Given the description of an element on the screen output the (x, y) to click on. 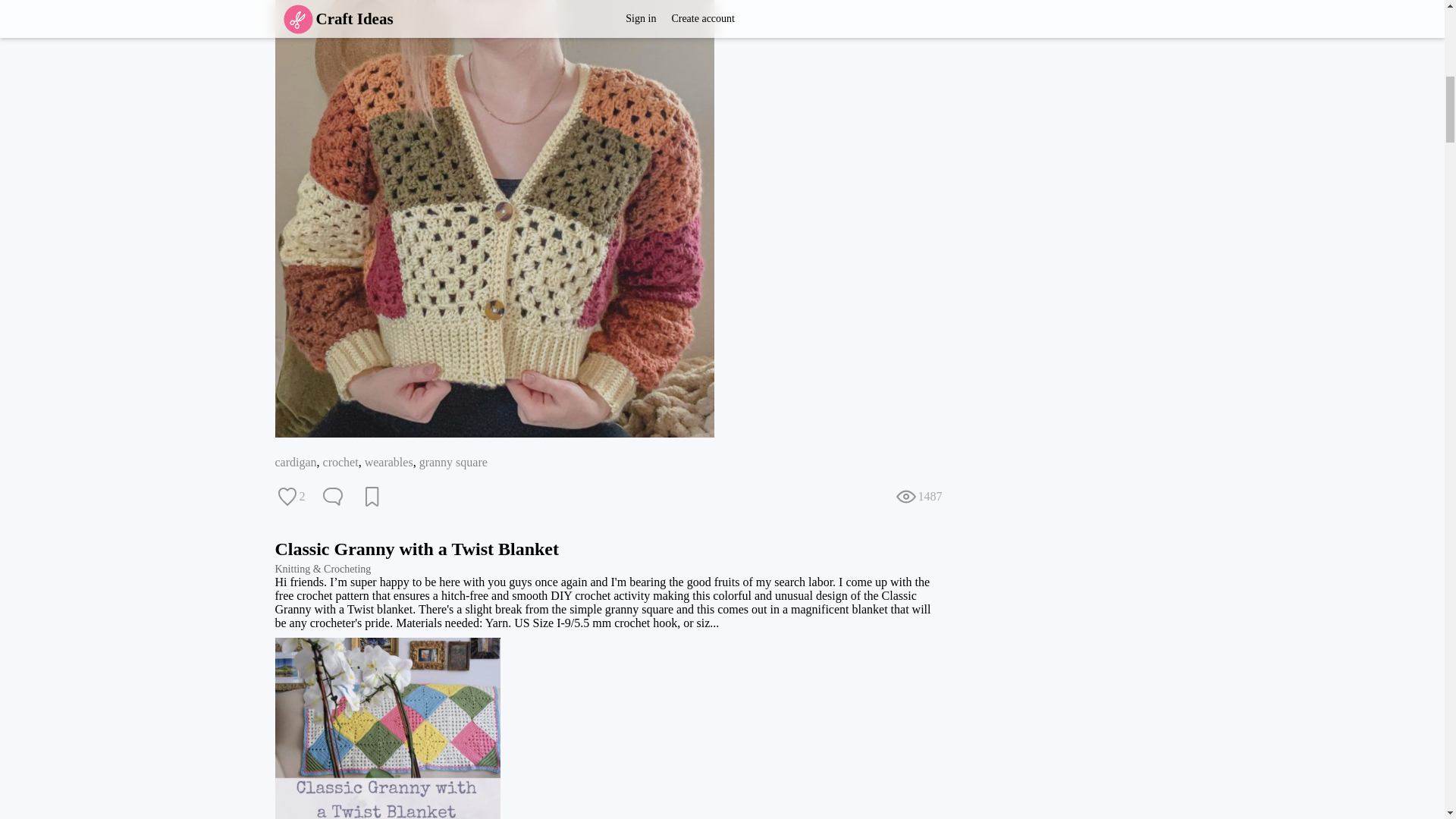
crochet (340, 461)
Classic Granny with a Twist Blanket (417, 548)
Comments (331, 496)
wearables (389, 461)
cardigan (295, 461)
granny square (453, 461)
Views (917, 496)
